Given the description of an element on the screen output the (x, y) to click on. 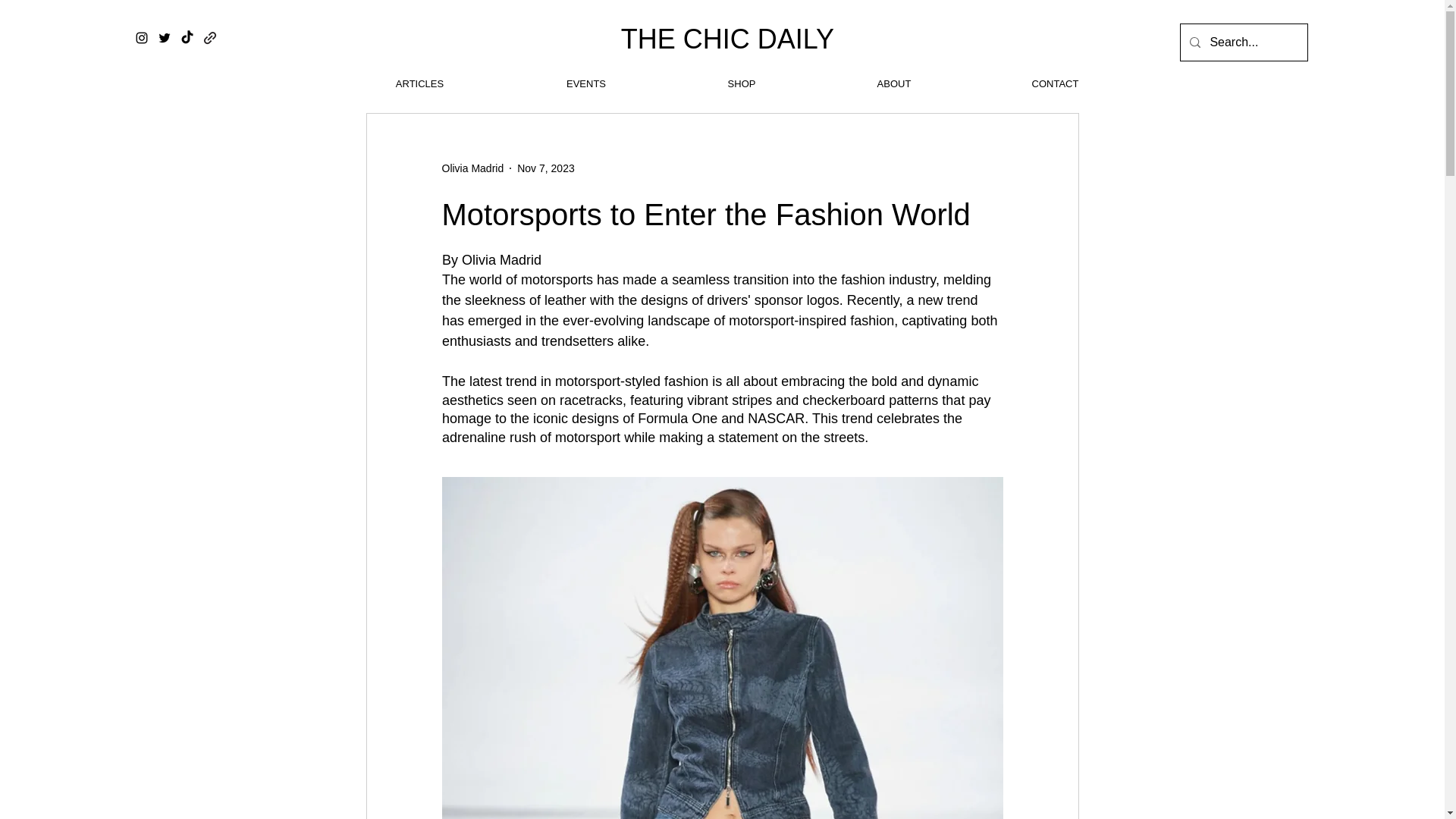
ABOUT (893, 84)
Olivia Madrid (472, 168)
Nov 7, 2023 (545, 168)
Olivia Madrid (472, 168)
ARTICLES (419, 84)
EVENTS (585, 84)
THE CHIC DAILY (727, 38)
SHOP (741, 84)
CONTACT (1055, 84)
